Given the description of an element on the screen output the (x, y) to click on. 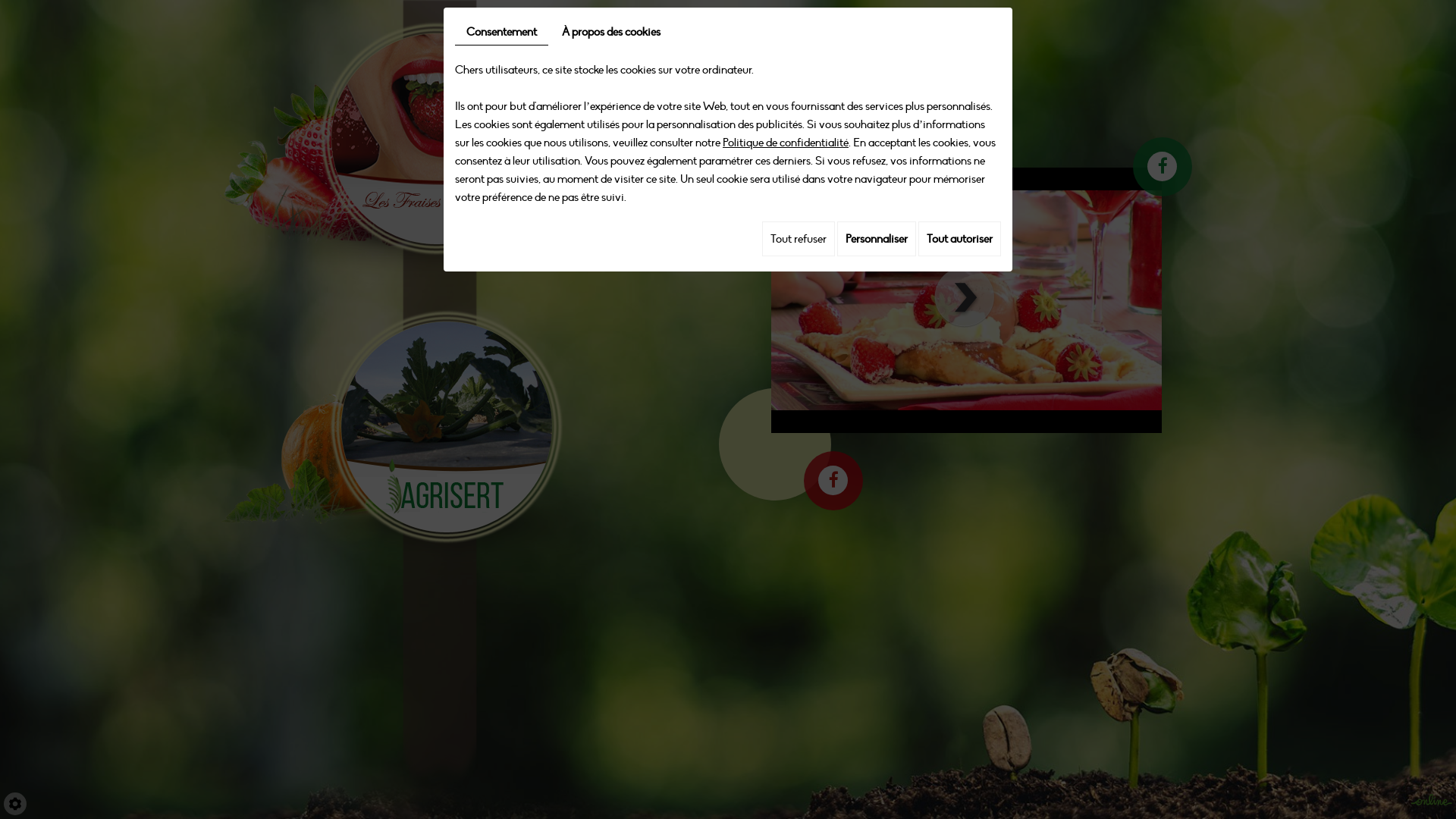
Tout refuser Element type: text (798, 238)
Personnaliser Element type: text (876, 238)
Consentement Element type: text (501, 31)
Tout autoriser Element type: text (959, 238)
